Given the description of an element on the screen output the (x, y) to click on. 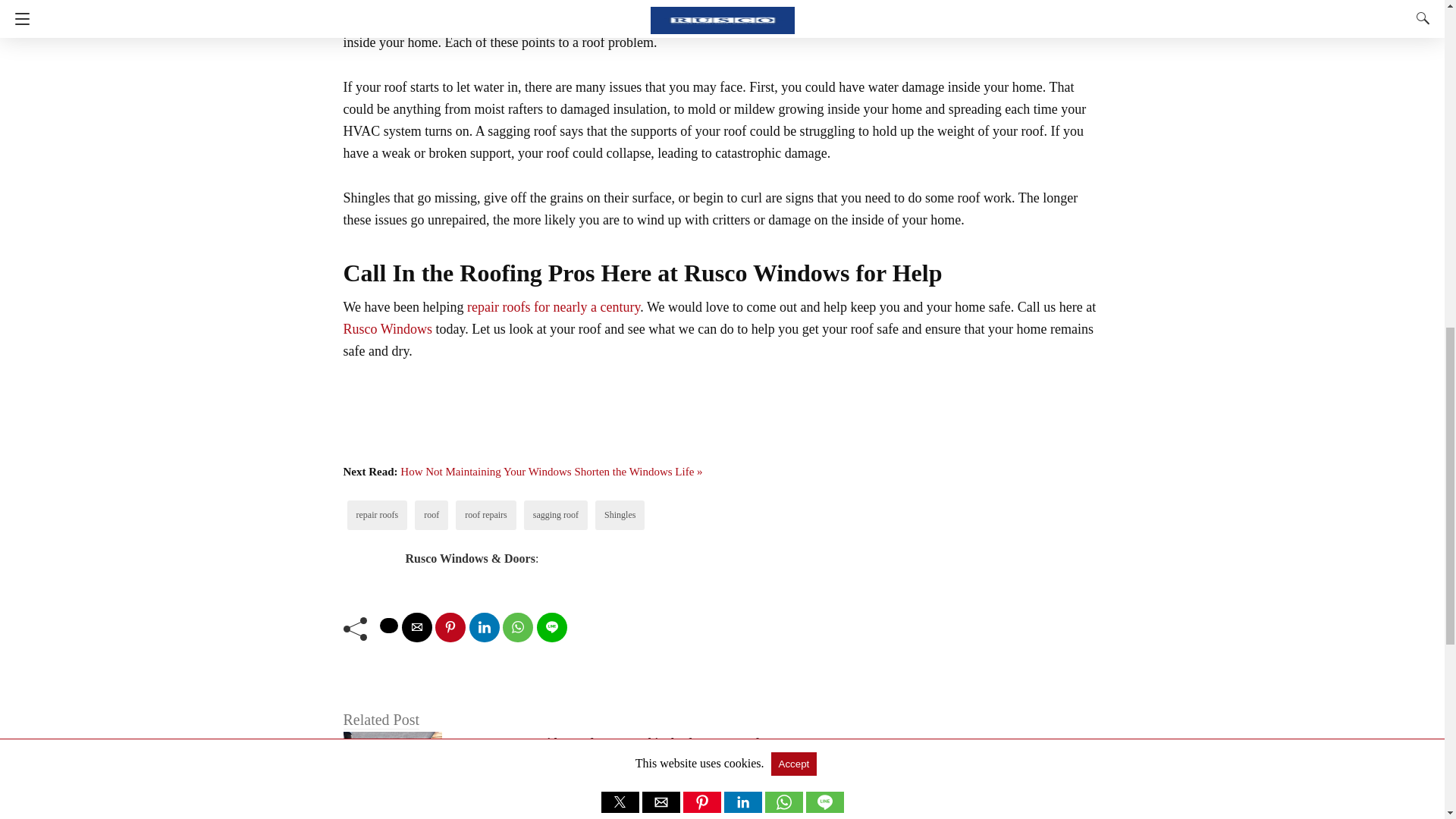
twitter share (388, 625)
Shingles (619, 514)
5 Reasons to Consider Performance Shingles for Your Roof (605, 742)
whatsapp share (517, 627)
pinterest share (450, 627)
sagging roof (555, 514)
repair roofs for nearly a century (553, 306)
5 Reasons to Consider Performance Shingles for Your Roof (605, 742)
AddThis Website Tools (577, 435)
line share (552, 627)
